Given the description of an element on the screen output the (x, y) to click on. 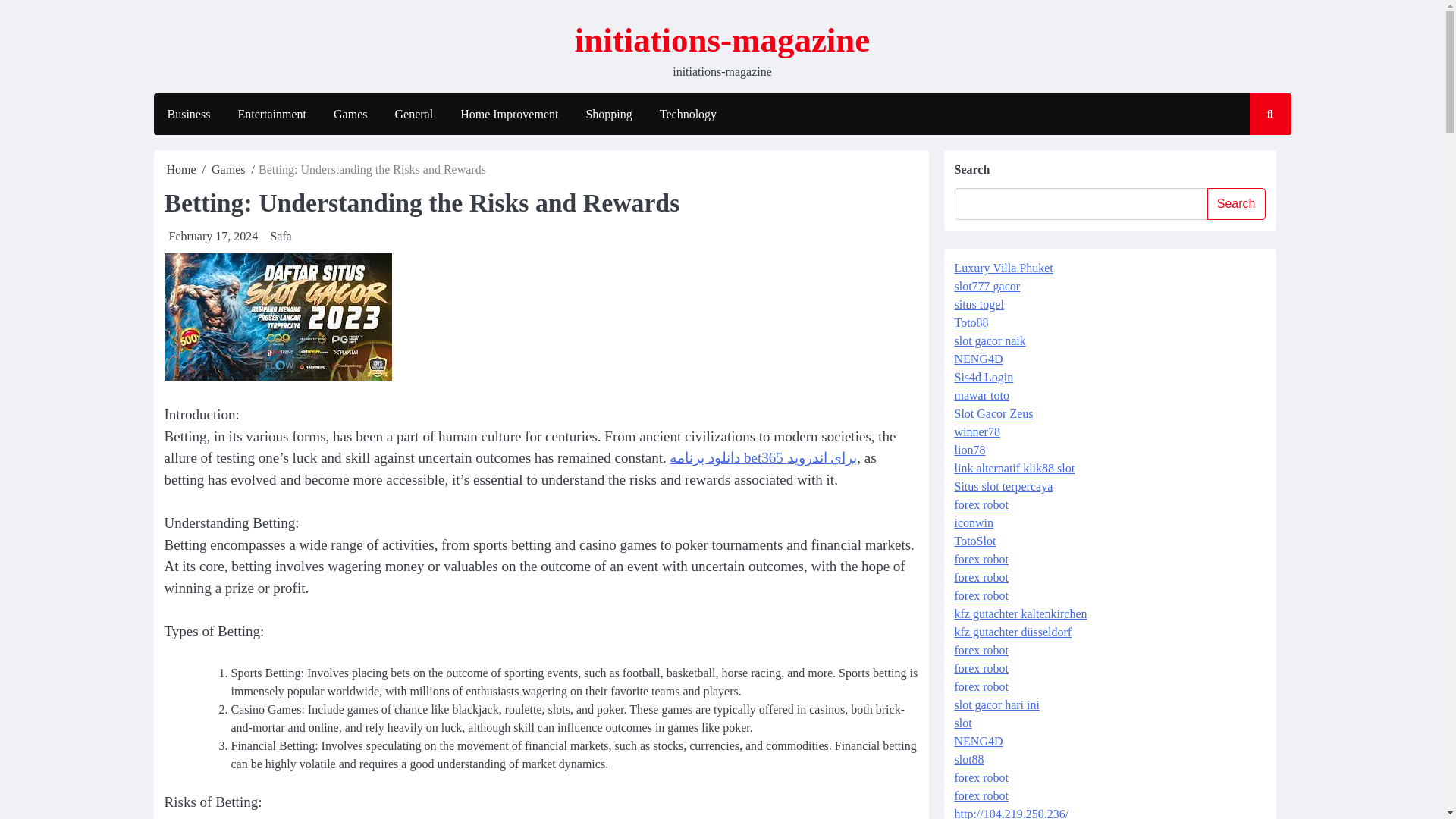
Shopping (608, 114)
Search (1256, 158)
mawar toto (981, 395)
Technology (688, 114)
Luxury Villa Phuket (1002, 267)
Search (1236, 204)
General (413, 114)
Games (350, 114)
February 17, 2024 (212, 236)
Slot Gacor Zeus (992, 413)
Situs slot terpercaya (1002, 486)
slot gacor naik (989, 340)
Home (181, 169)
Toto88 (970, 322)
Home Improvement (509, 114)
